Given the description of an element on the screen output the (x, y) to click on. 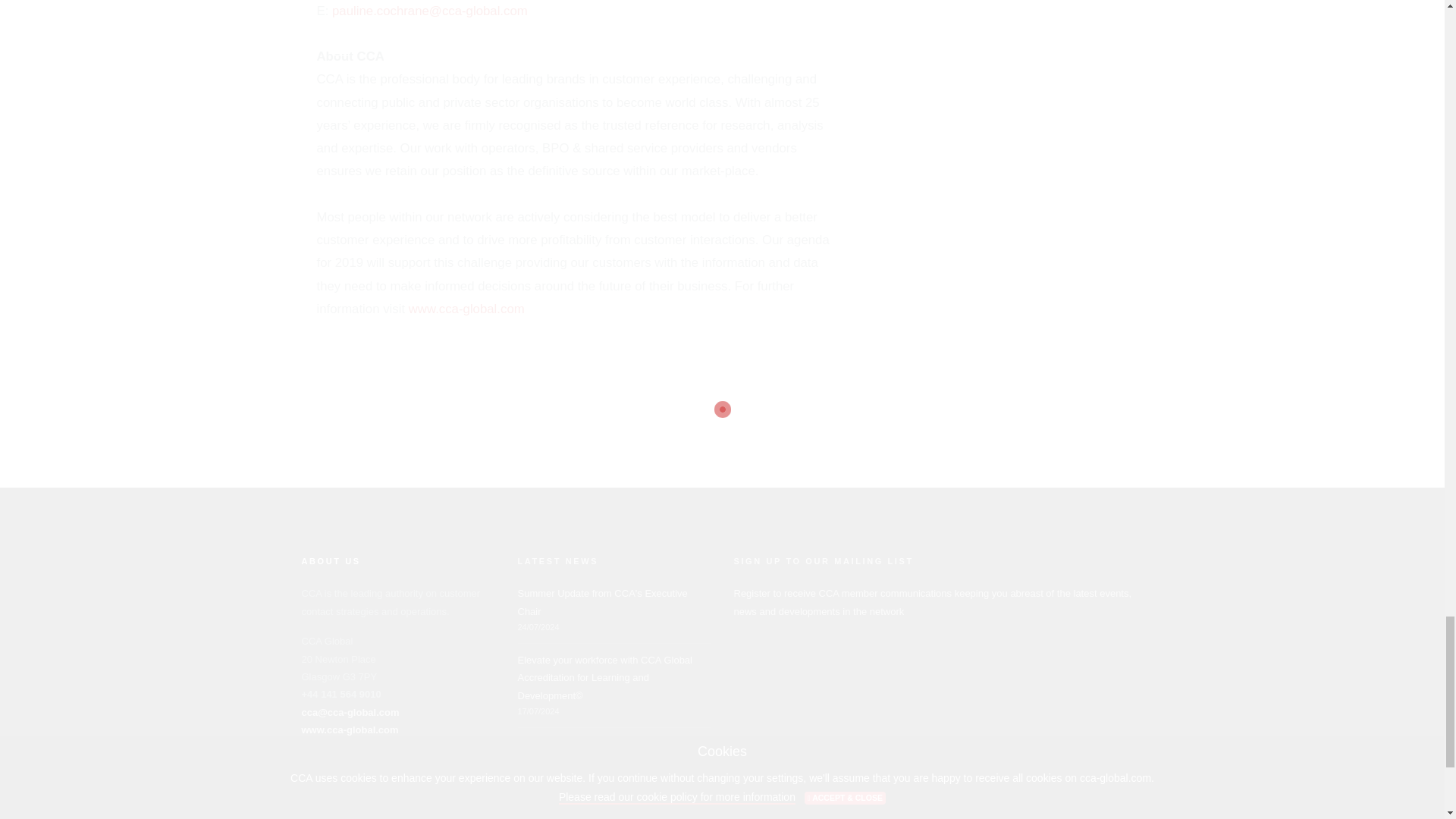
www.cca-global.com (466, 309)
